Given the description of an element on the screen output the (x, y) to click on. 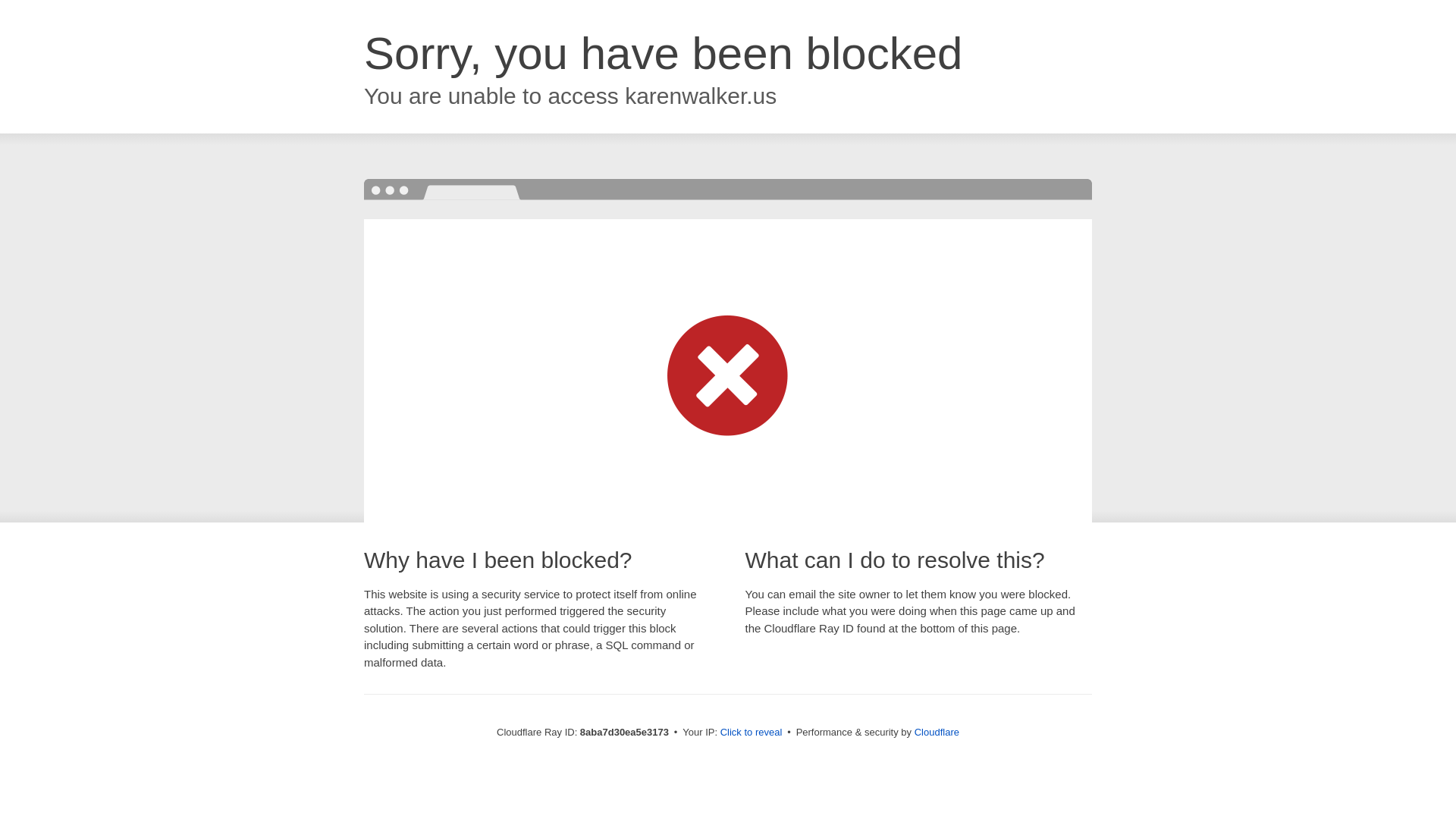
Cloudflare (936, 731)
Click to reveal (751, 732)
